Given the description of an element on the screen output the (x, y) to click on. 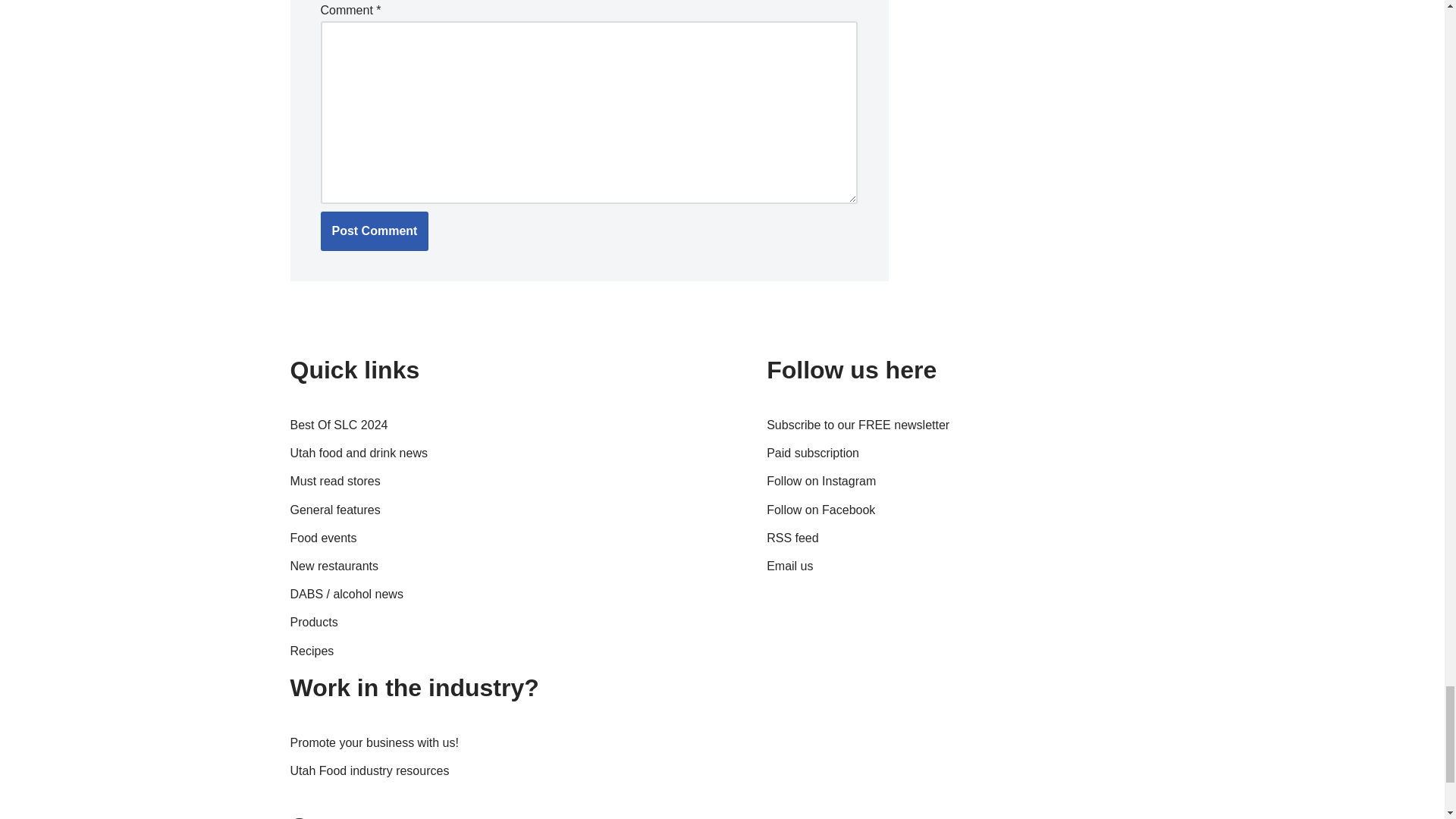
Post Comment (374, 230)
